Given the description of an element on the screen output the (x, y) to click on. 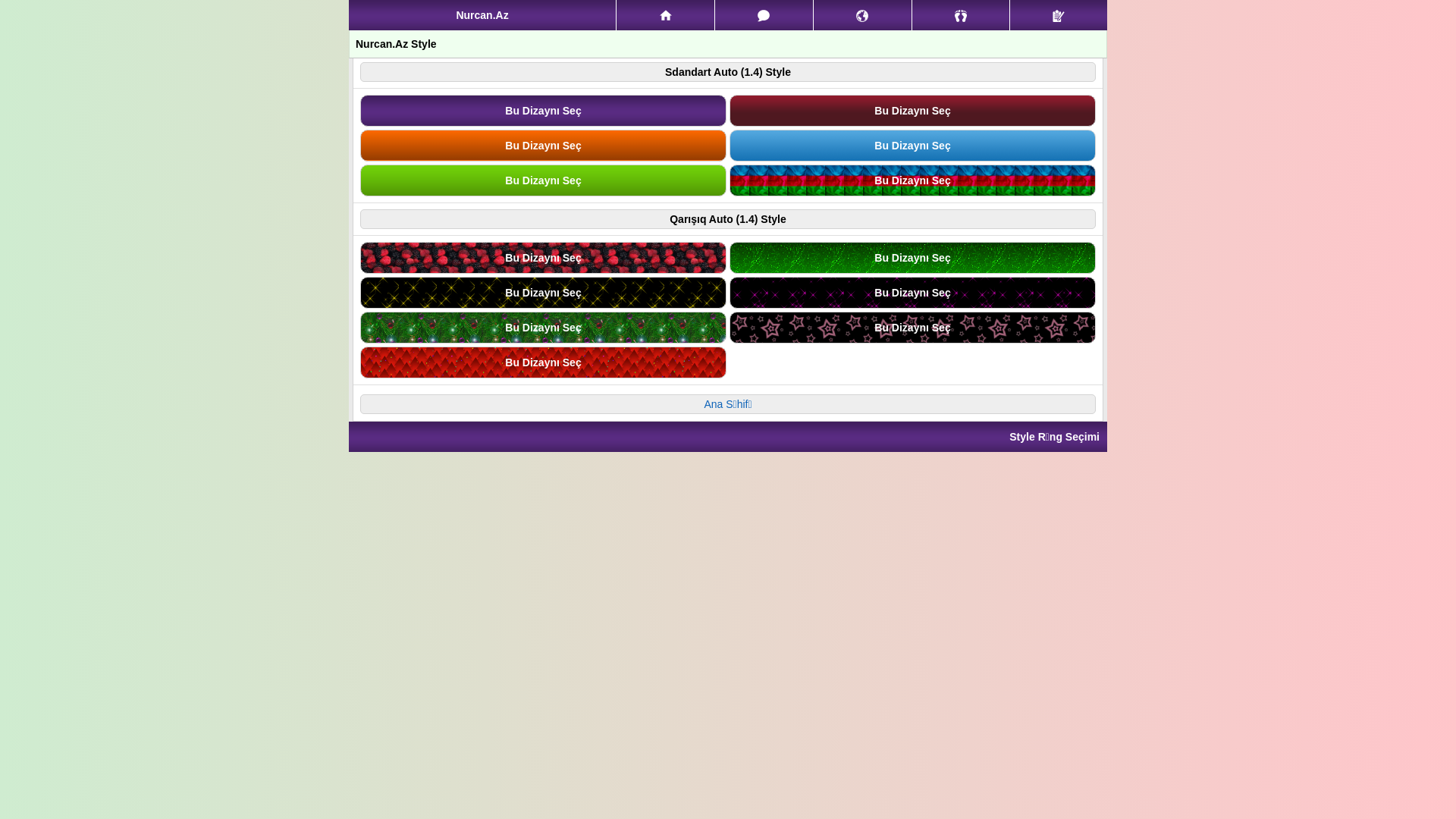
Bildirisler Element type: hover (862, 15)
Mesajlar Element type: hover (763, 15)
Sdandart Auto (1.4) Style Element type: text (727, 71)
Qeydiyyat Element type: hover (1058, 15)
Qonaqlar Element type: hover (961, 15)
